Given the description of an element on the screen output the (x, y) to click on. 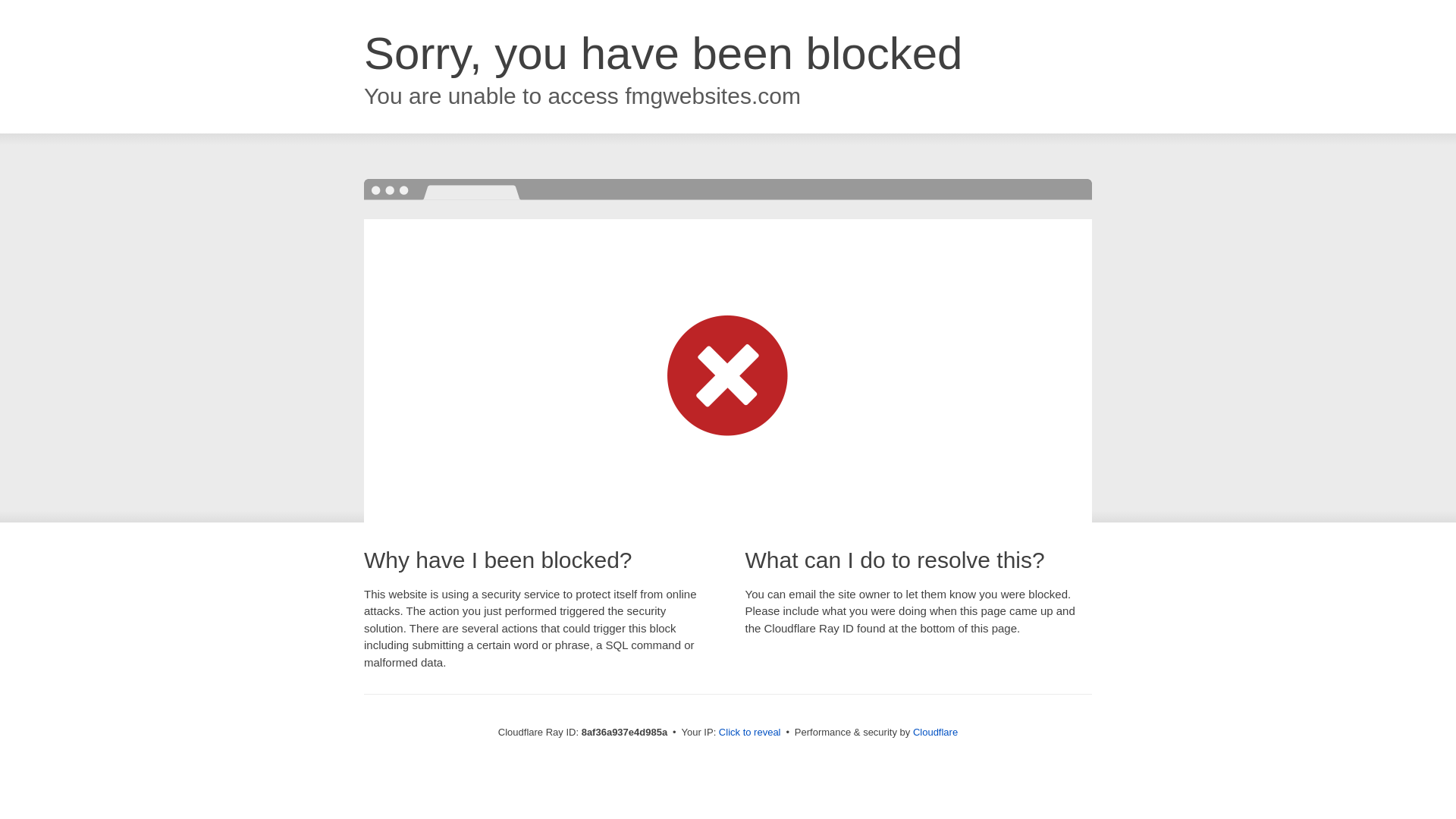
Click to reveal (749, 732)
Cloudflare (935, 731)
